Given the description of an element on the screen output the (x, y) to click on. 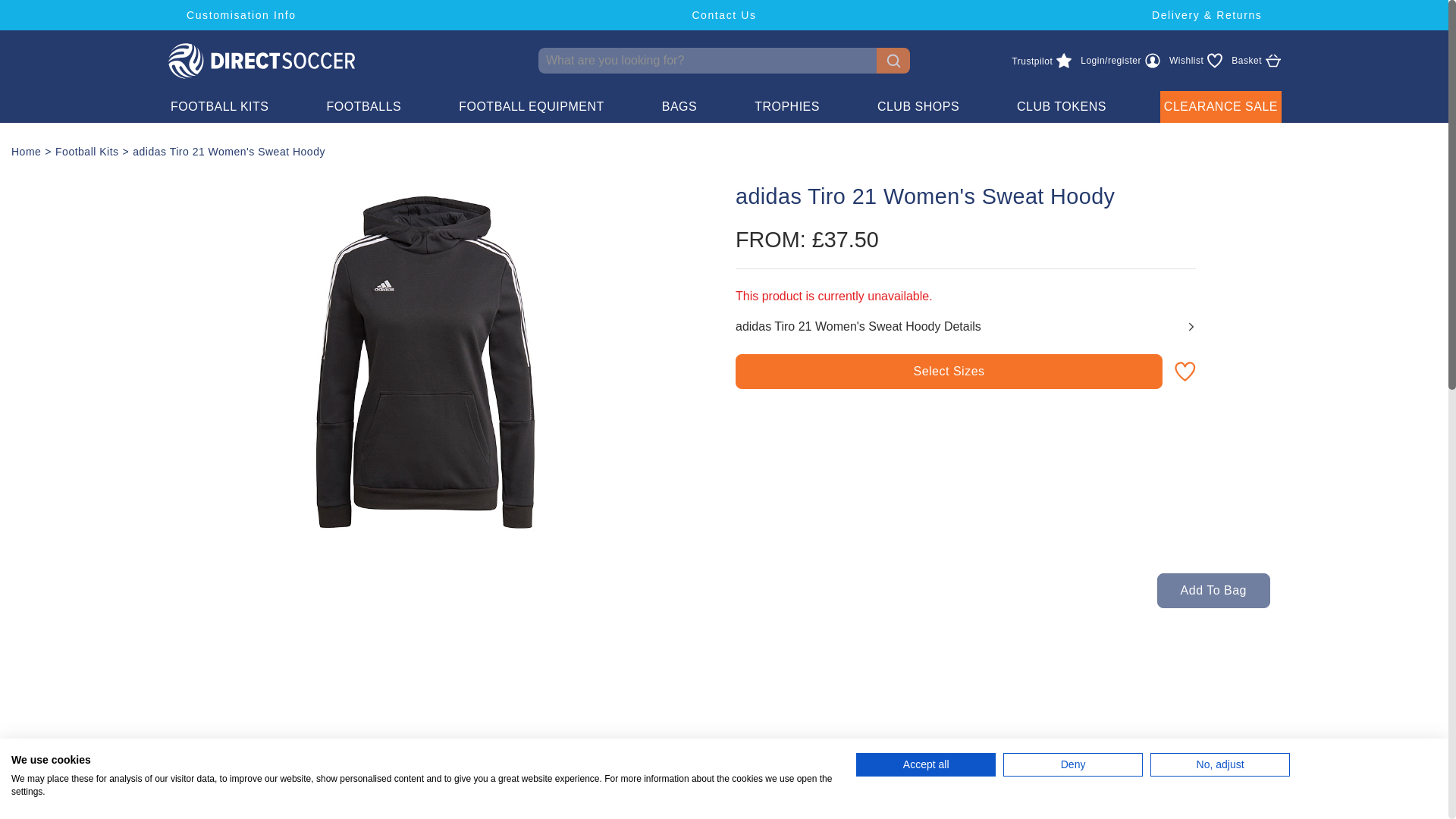
View our reviews on Trustpilot (1040, 60)
Select Sizes (1196, 60)
Contact Us (1040, 60)
FOOTBALL KITS (948, 371)
Customisation Info (724, 15)
Skip to main content (1255, 60)
